Given the description of an element on the screen output the (x, y) to click on. 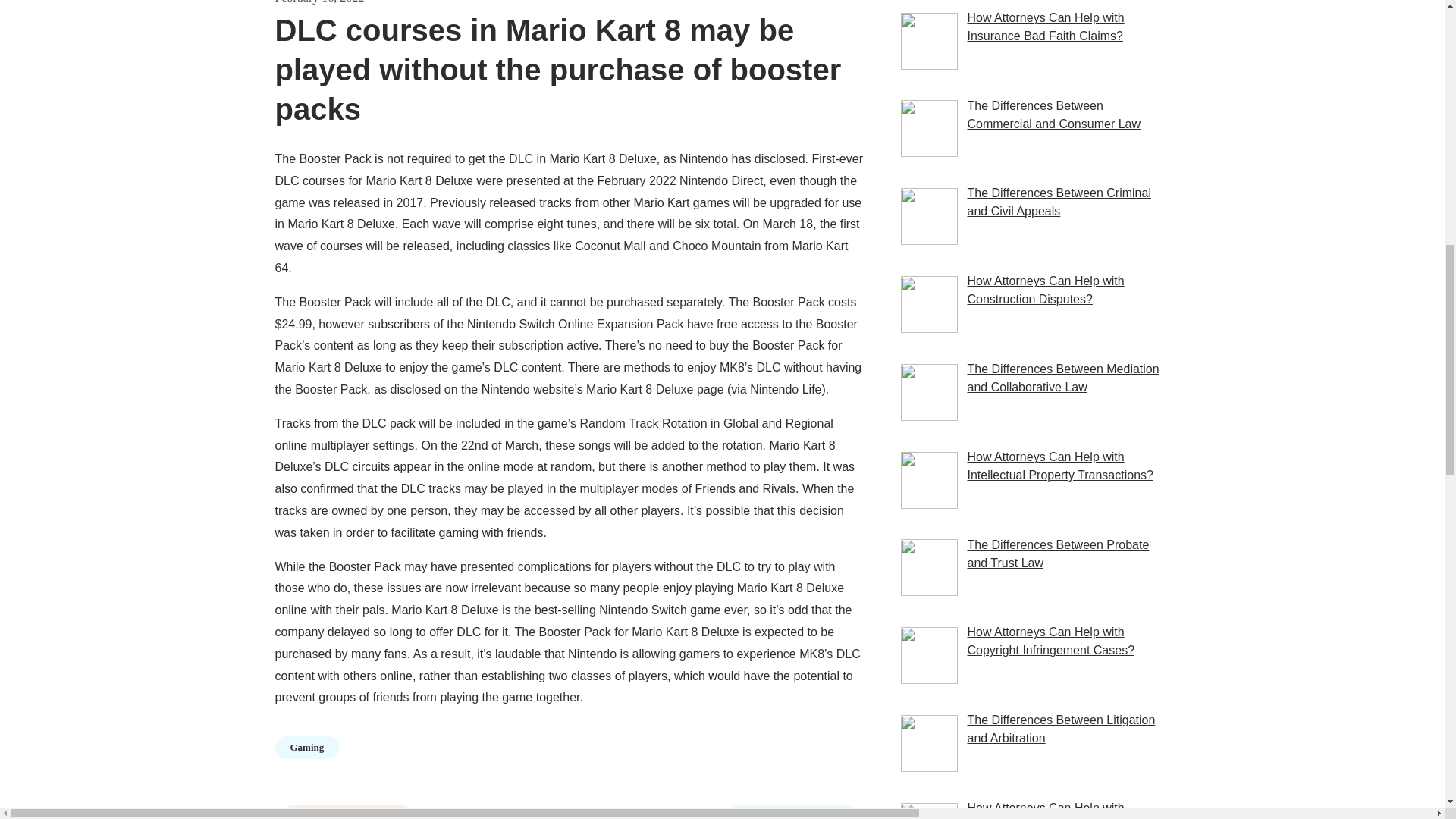
Gaming (307, 747)
The Differences Between Criminal and Civil Appeals (1058, 201)
The Differences Between Litigation and Arbitration (1060, 728)
How Attorneys Can Help with Insurance Bad Faith Claims? (1045, 26)
Next post (792, 811)
How Attorneys Can Help with Business Disputes? (1045, 810)
The Differences Between Probate and Trust Law (1057, 553)
How Attorneys Can Help with Copyright Infringement Cases? (1050, 640)
The Differences Between Mediation and Collaborative Law (1062, 377)
